Given the description of an element on the screen output the (x, y) to click on. 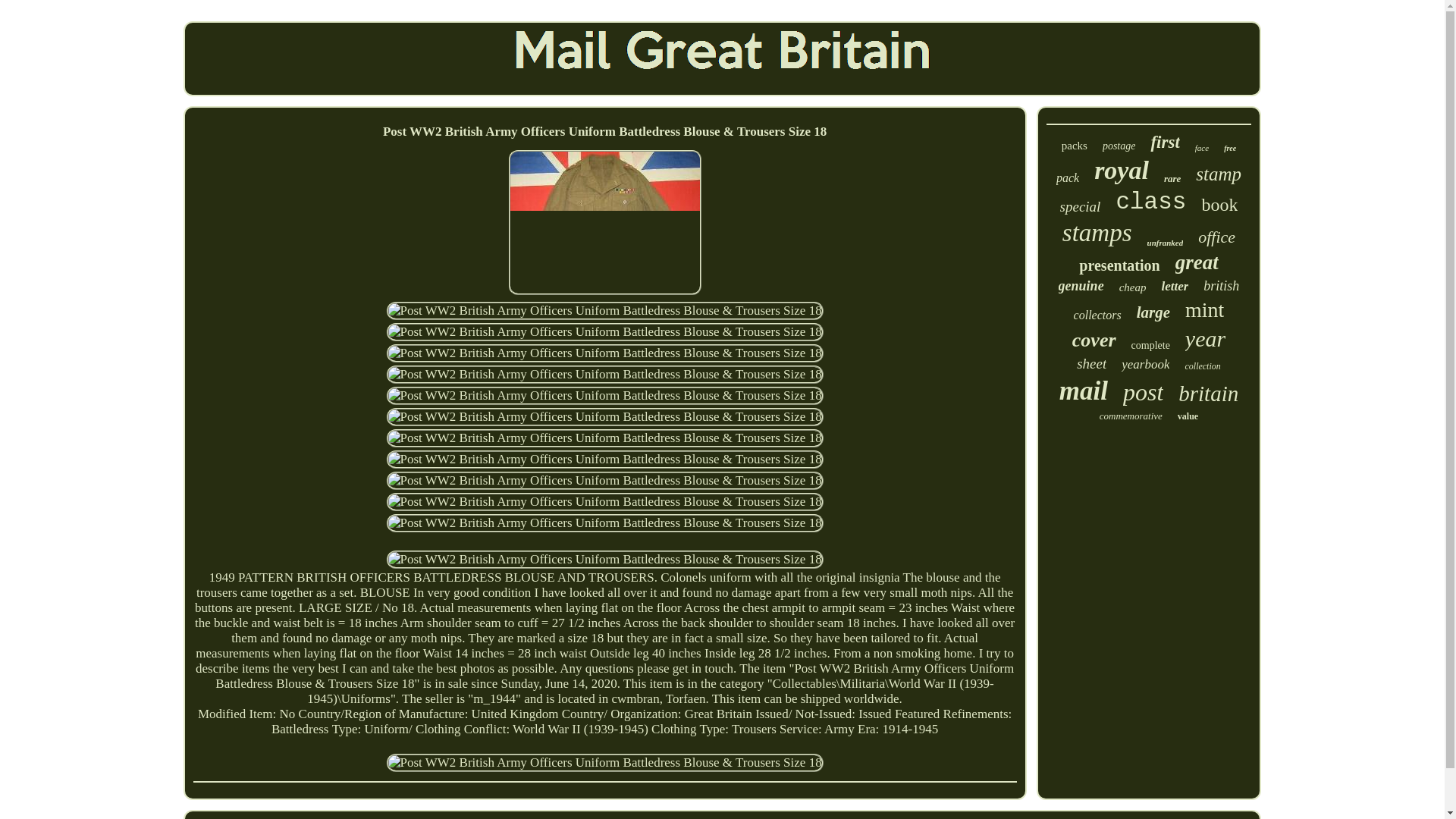
complete (1150, 345)
class (1150, 202)
special (1079, 207)
postage (1118, 146)
sheet (1091, 363)
packs (1074, 145)
year (1205, 338)
face (1201, 147)
letter (1174, 286)
office (1216, 237)
